Given the description of an element on the screen output the (x, y) to click on. 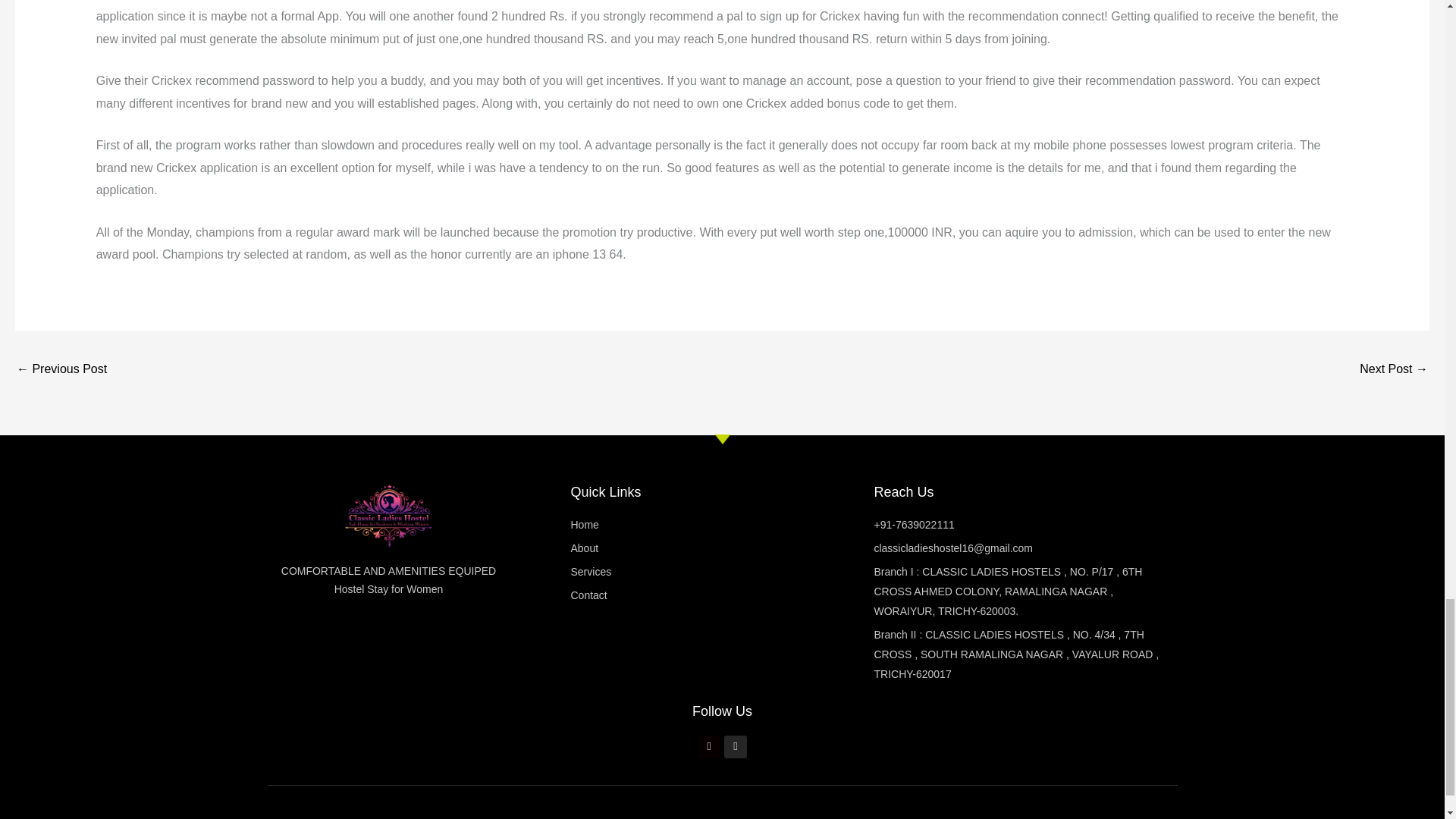
Ladies looking for females: Meet your own true love with us (61, 370)
Services (721, 572)
About (721, 548)
Contact (721, 596)
Home (721, 525)
